Given the description of an element on the screen output the (x, y) to click on. 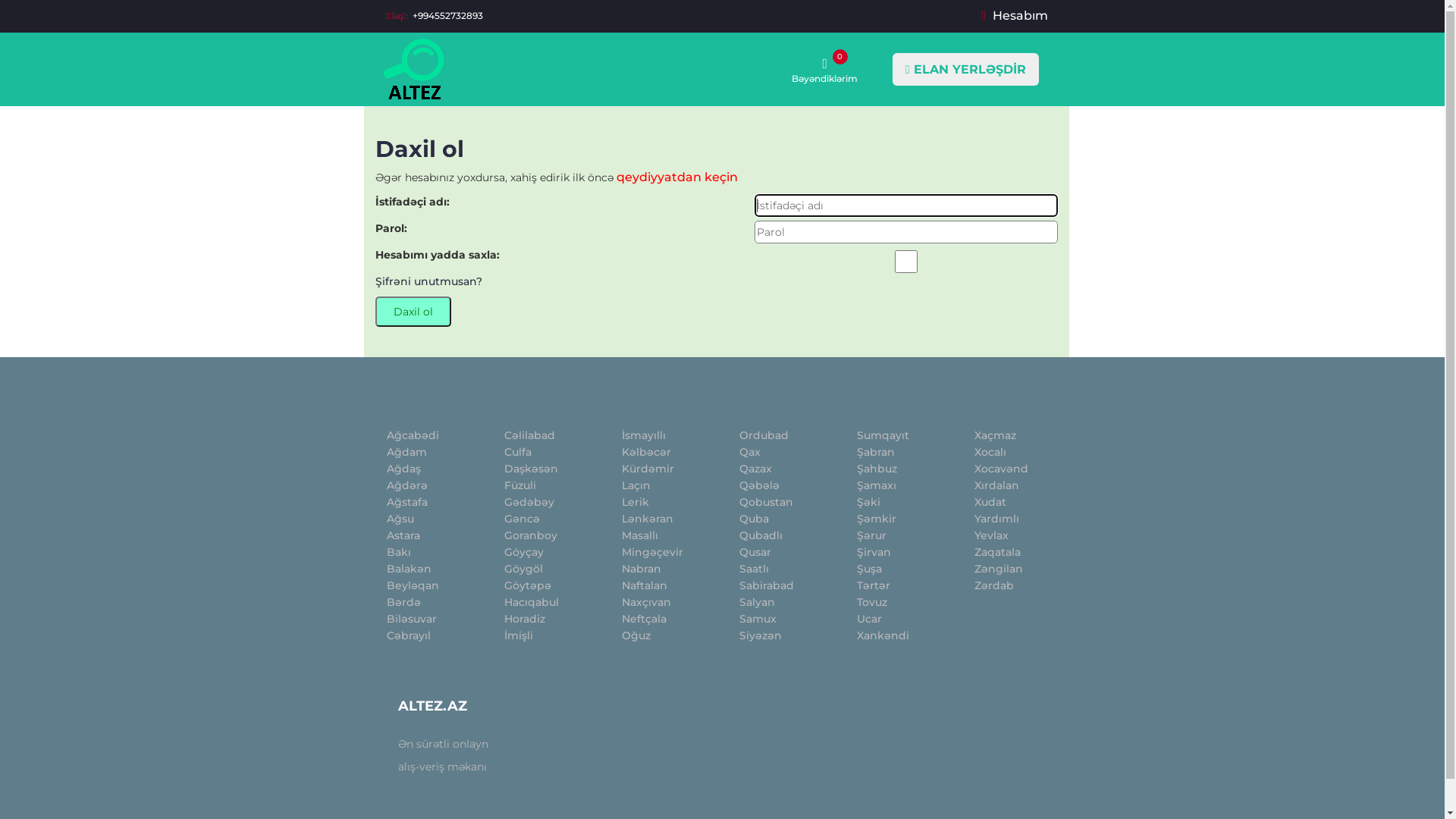
Qobustan Element type: text (766, 501)
Samux Element type: text (757, 618)
Culfa Element type: text (517, 451)
Qax Element type: text (749, 451)
Naftalan Element type: text (644, 585)
Nabran Element type: text (641, 568)
Astara Element type: text (403, 535)
Salyan Element type: text (757, 601)
Zaqatala Element type: text (997, 551)
Quba Element type: text (753, 518)
Qazax Element type: text (755, 468)
Yevlax Element type: text (991, 535)
Sabirabad Element type: text (766, 585)
Daxil ol Element type: text (413, 311)
Ordubad Element type: text (763, 435)
Horadiz Element type: text (524, 618)
Xudat Element type: text (990, 501)
Qusar Element type: text (755, 551)
Lerik Element type: text (635, 501)
Ucar Element type: text (868, 618)
Tovuz Element type: text (871, 601)
Goranboy Element type: text (530, 535)
